Given the description of an element on the screen output the (x, y) to click on. 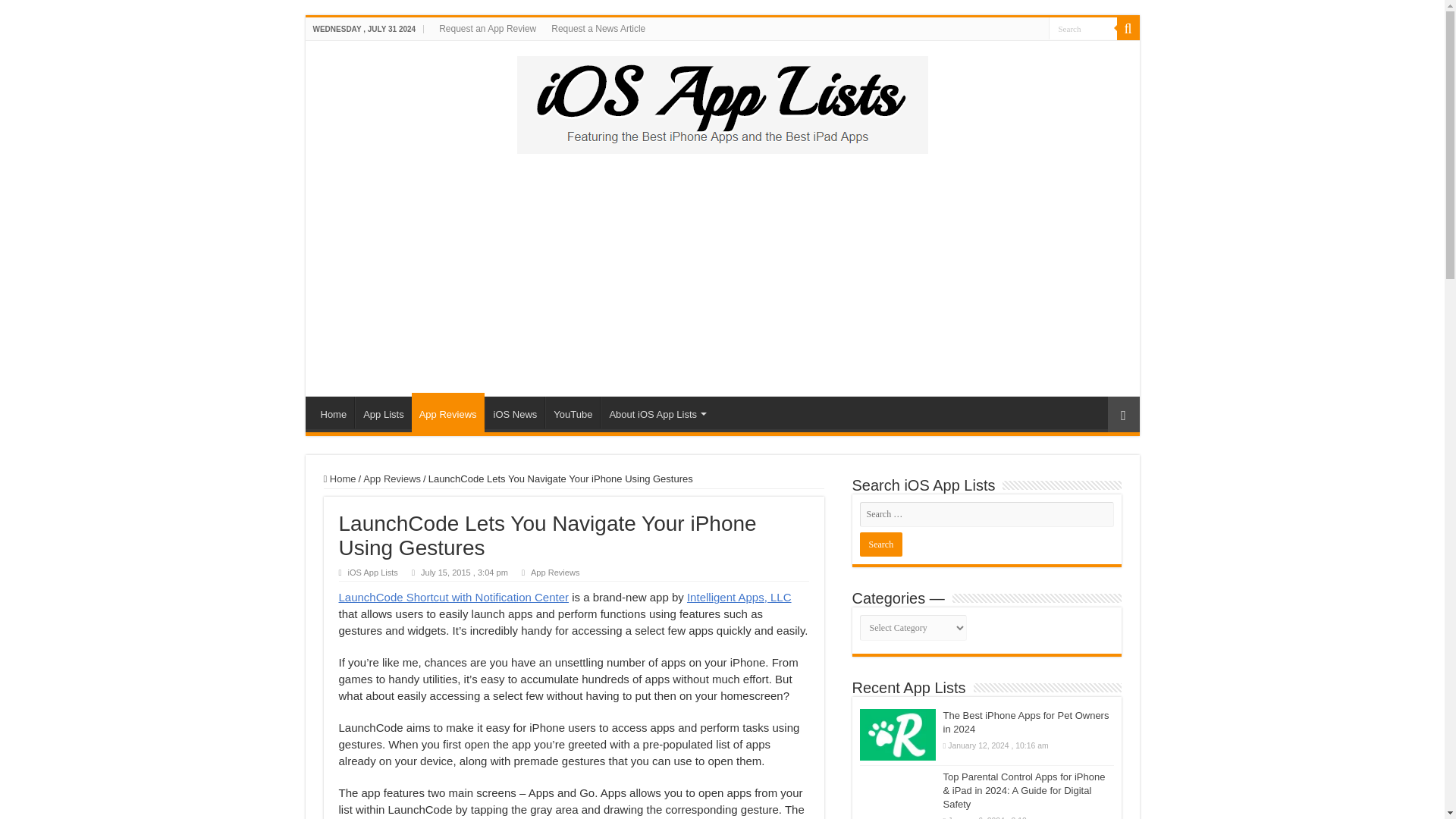
Search (881, 544)
Home (339, 478)
Request a News Article (597, 28)
App Reviews (555, 572)
Search (1127, 28)
YouTube (571, 412)
Search (1082, 28)
Request an App Review (486, 28)
Search (1082, 28)
App Reviews (448, 412)
App Reviews (391, 478)
Intelligent Apps, LLC (739, 596)
Home (333, 412)
iOS App Lists (372, 572)
Search (1082, 28)
